Given the description of an element on the screen output the (x, y) to click on. 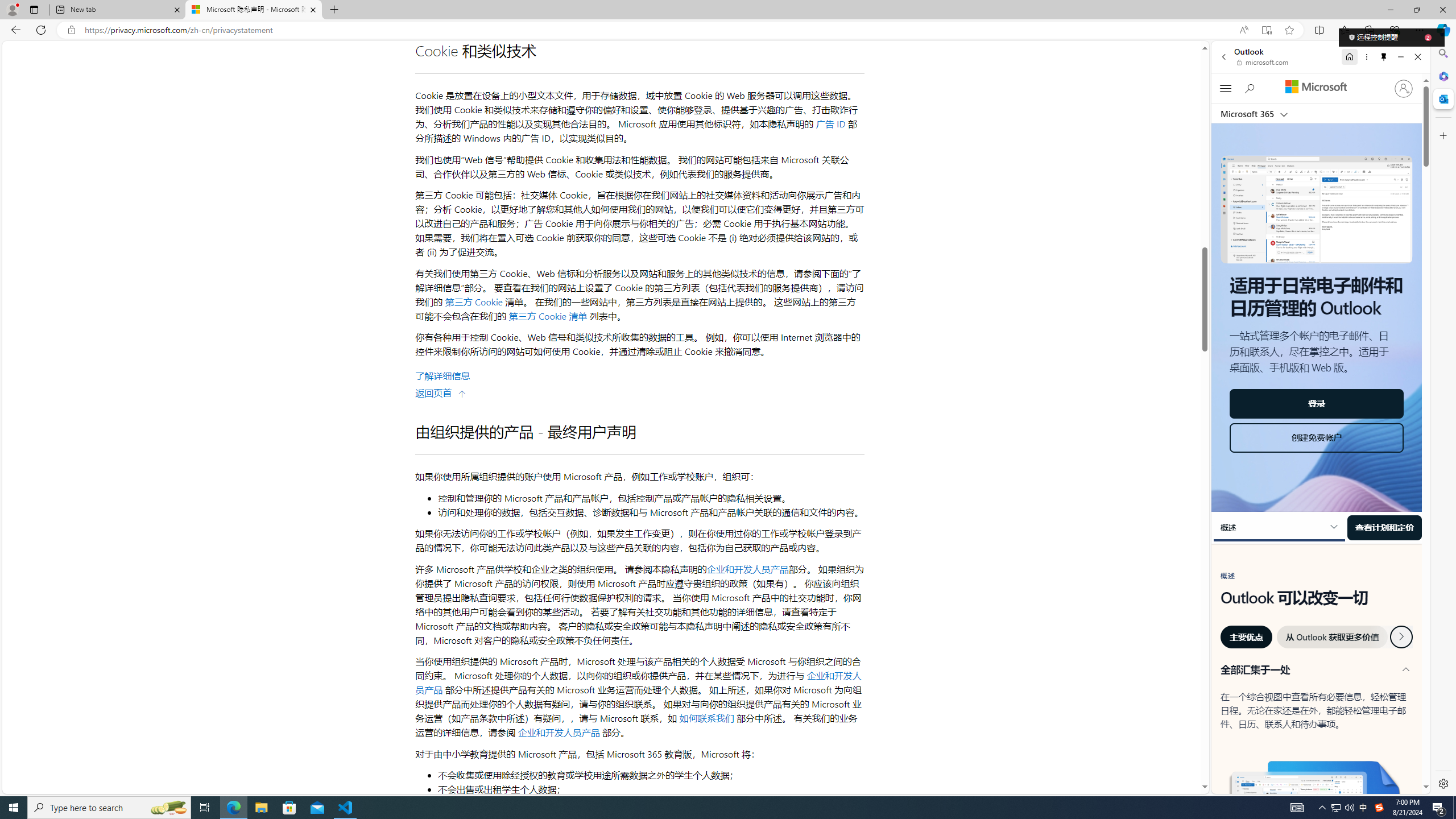
microsoft.com (1263, 61)
